Given the description of an element on the screen output the (x, y) to click on. 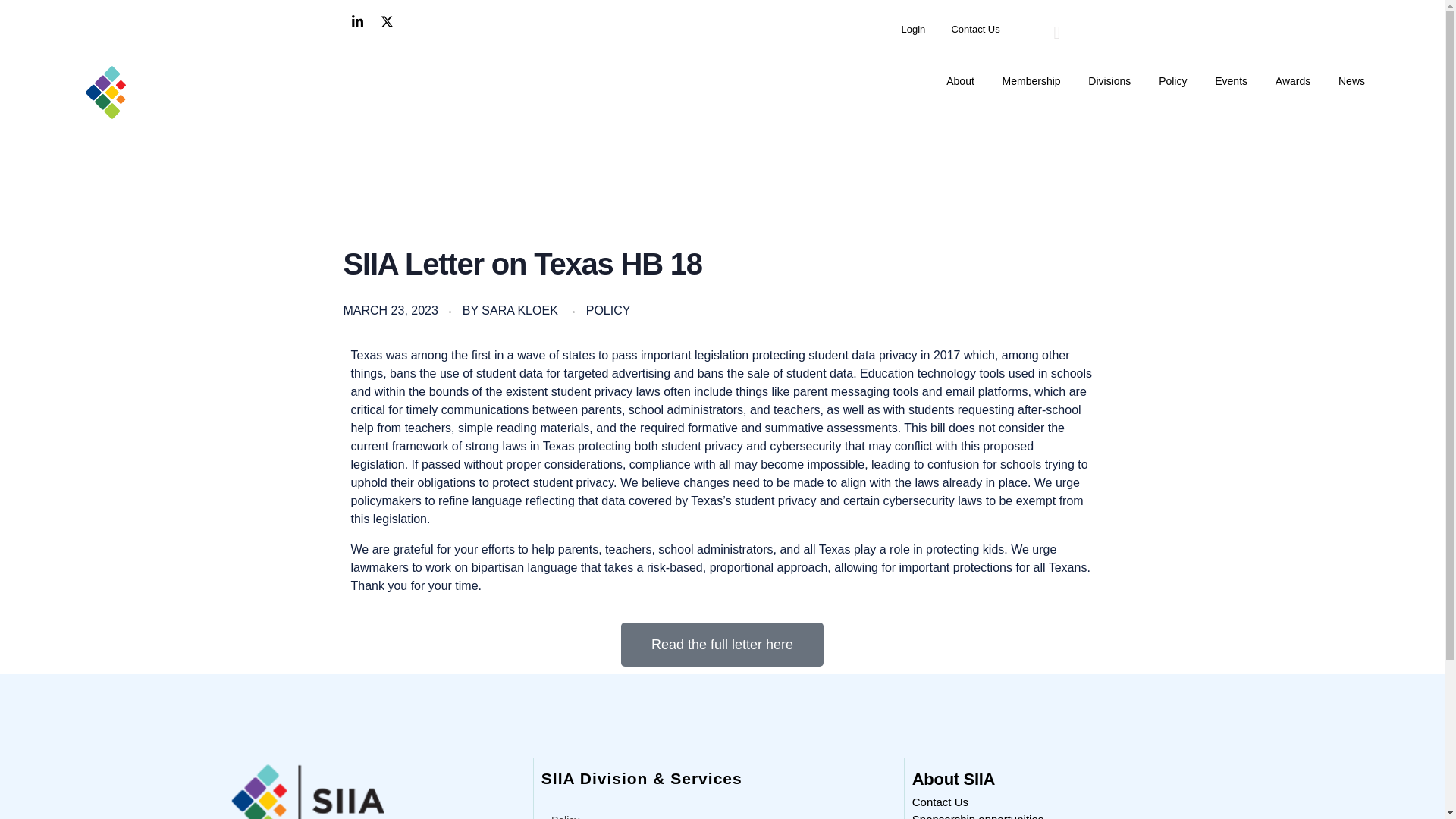
View all posts in Policy (608, 311)
Login (912, 29)
SIIA (155, 91)
View all posts by Sara Kloek (519, 309)
About (967, 81)
Contact Us (974, 29)
SIIA (96, 132)
SIIA (96, 132)
